Given the description of an element on the screen output the (x, y) to click on. 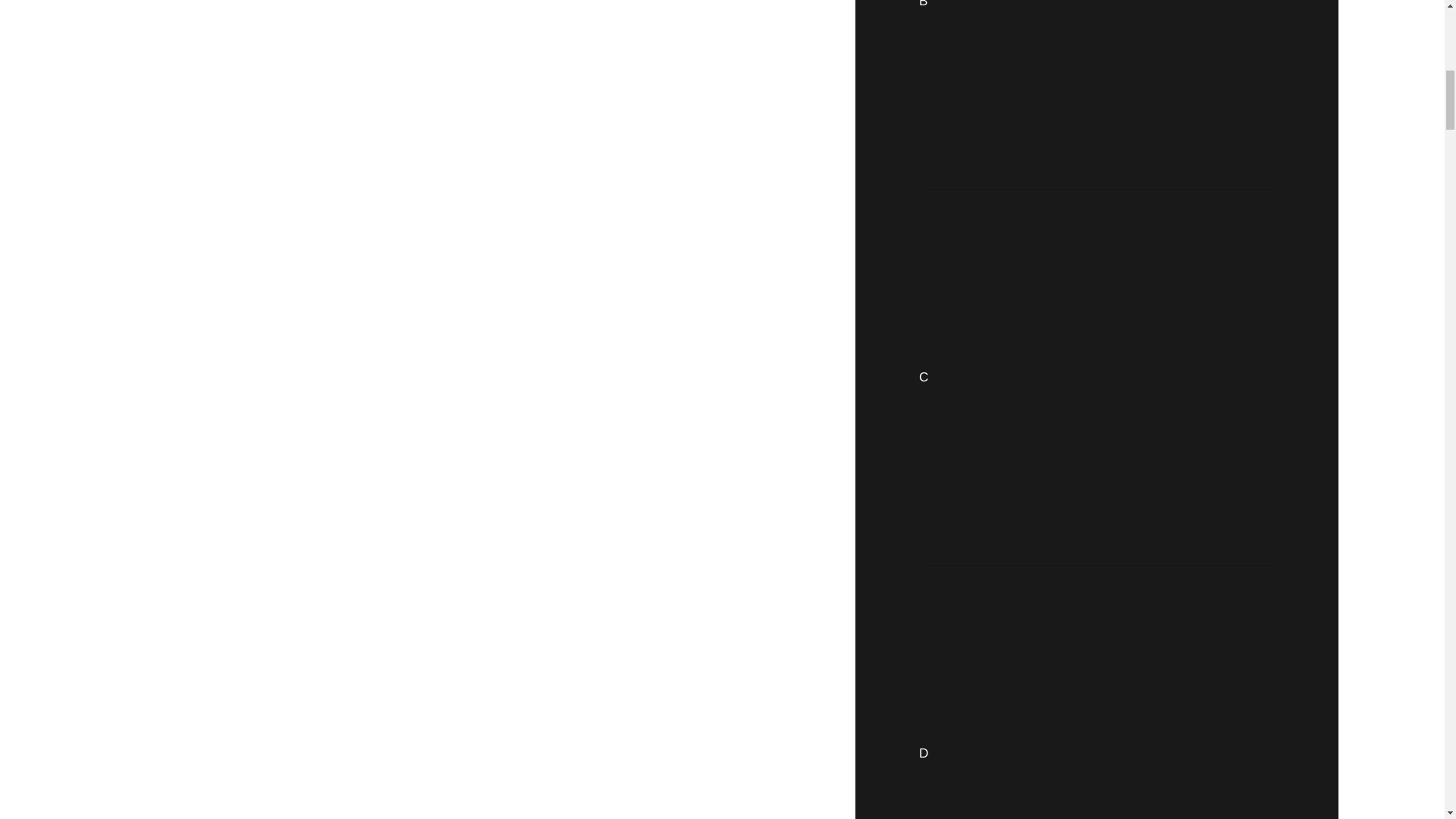
Open child menu of C (1102, 377)
Open child menu of D (1102, 700)
Open child menu of B (1101, 87)
